Given the description of an element on the screen output the (x, y) to click on. 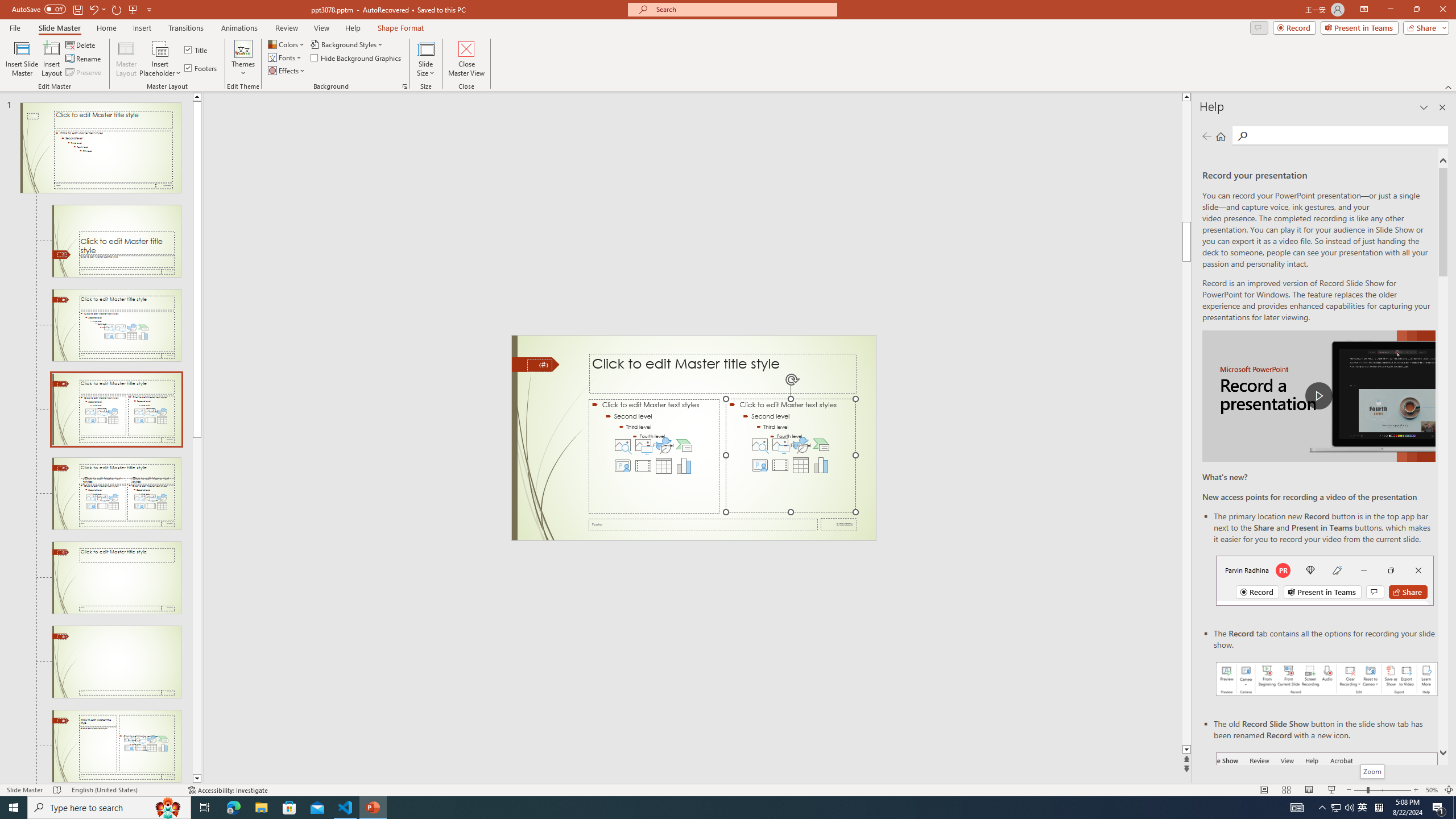
Insert a SmartArt Graphic (820, 444)
Freeform 11 (535, 364)
Preserve (84, 72)
Slide Title Only Layout: used by no slides (116, 661)
Insert Layout (51, 58)
Insert Video (780, 465)
Fonts (285, 56)
Slide Title and Content Layout: used by no slides (116, 325)
Record your presentations screenshot one (1326, 678)
